Given the description of an element on the screen output the (x, y) to click on. 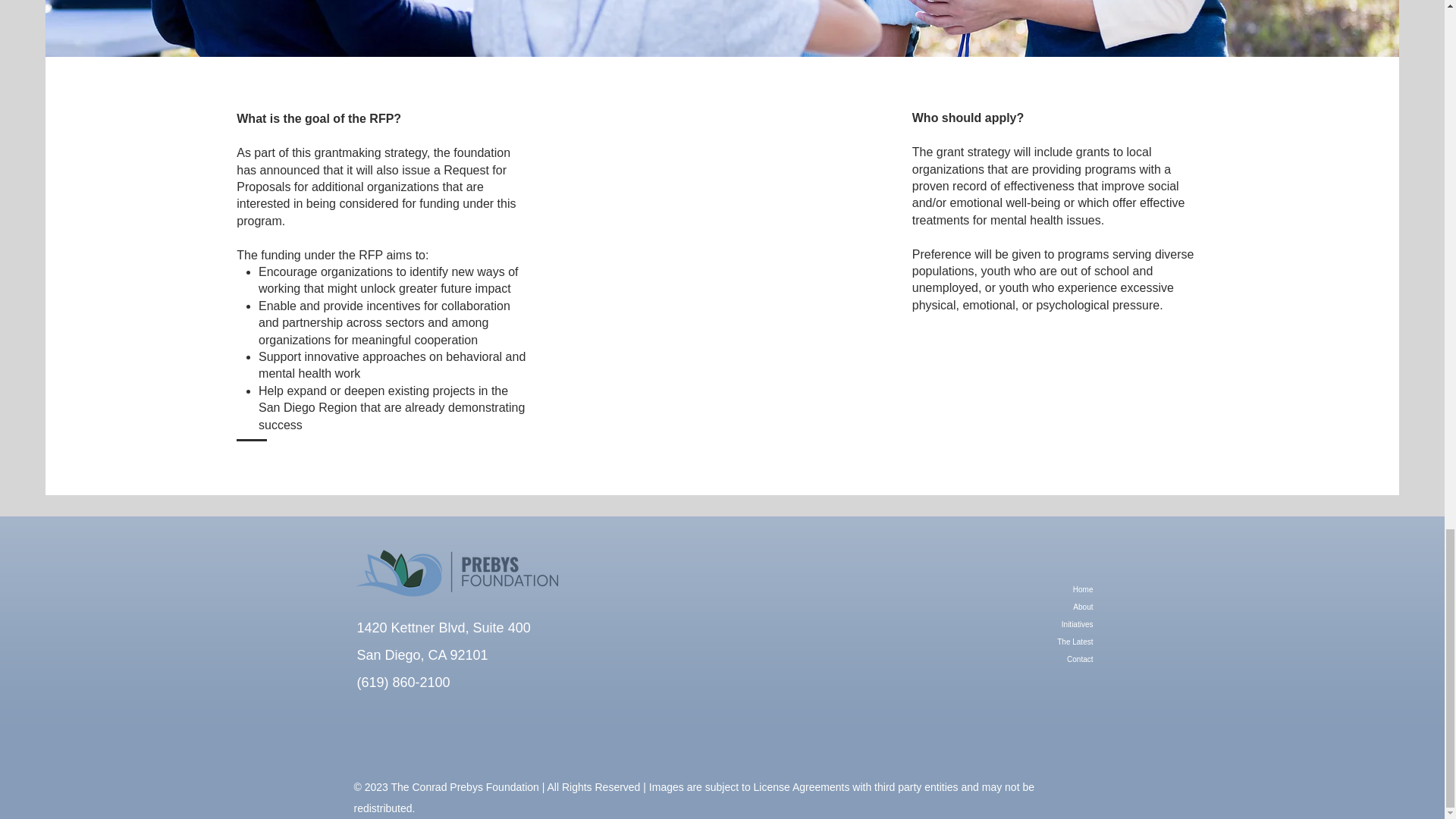
Home (1034, 589)
About (1034, 606)
Initiatives (1034, 624)
